Given the description of an element on the screen output the (x, y) to click on. 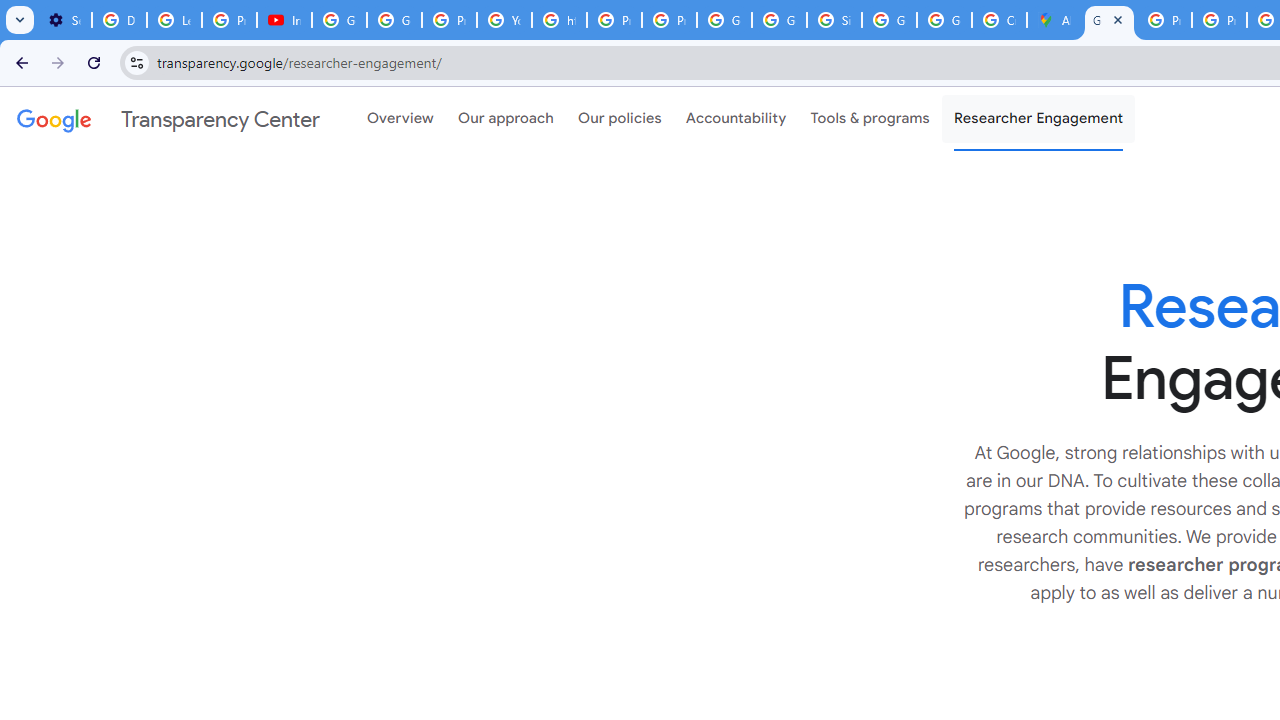
Google Researcher Engagement - Transparency Center (1108, 20)
Our approach (506, 119)
Google Account Help (339, 20)
Privacy Help Center - Policies Help (1163, 20)
